Given the description of an element on the screen output the (x, y) to click on. 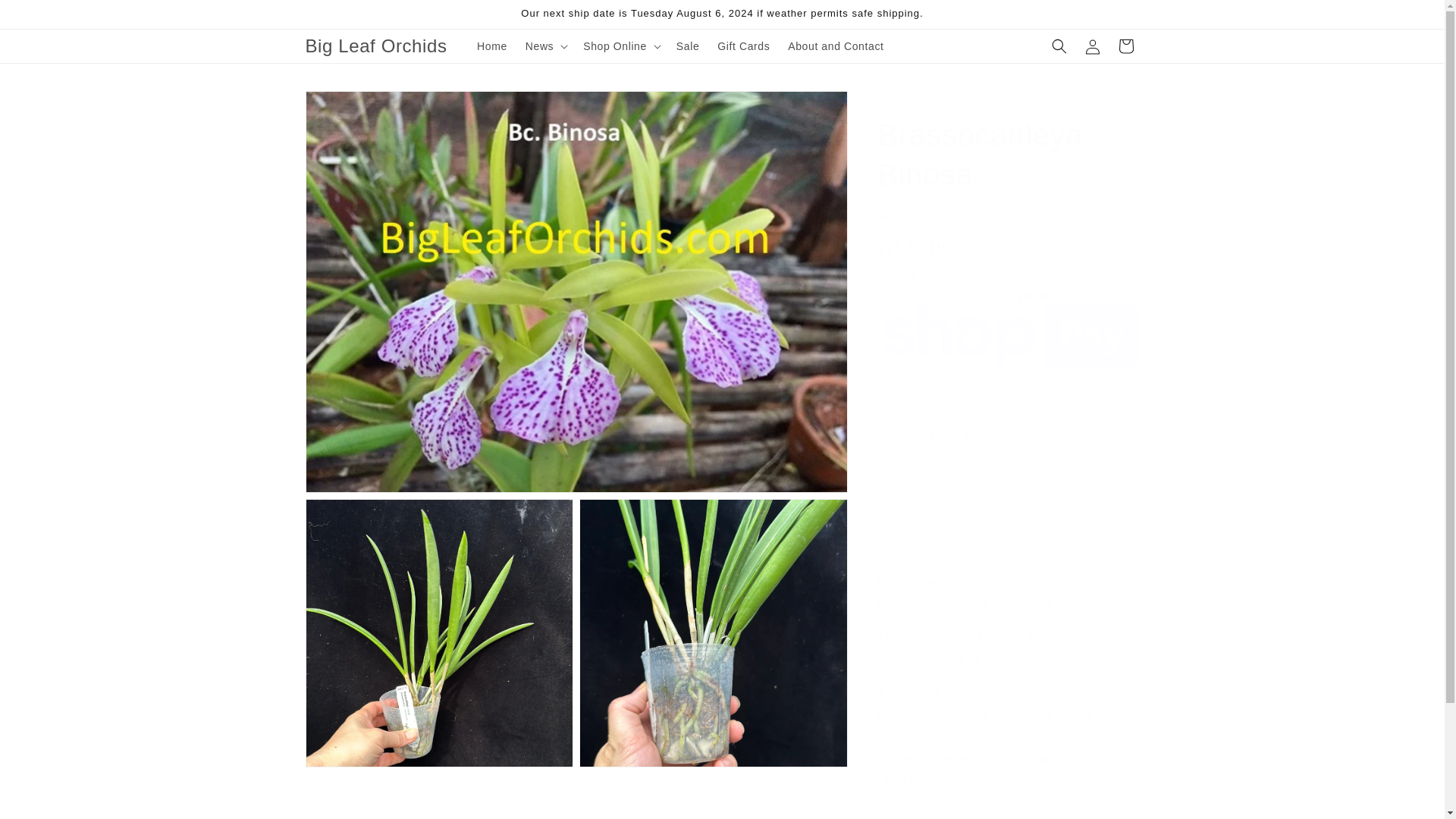
Open media 3 in modal (713, 632)
Open media 2 in modal (438, 632)
Skip to content (45, 17)
1 (931, 436)
